Given the description of an element on the screen output the (x, y) to click on. 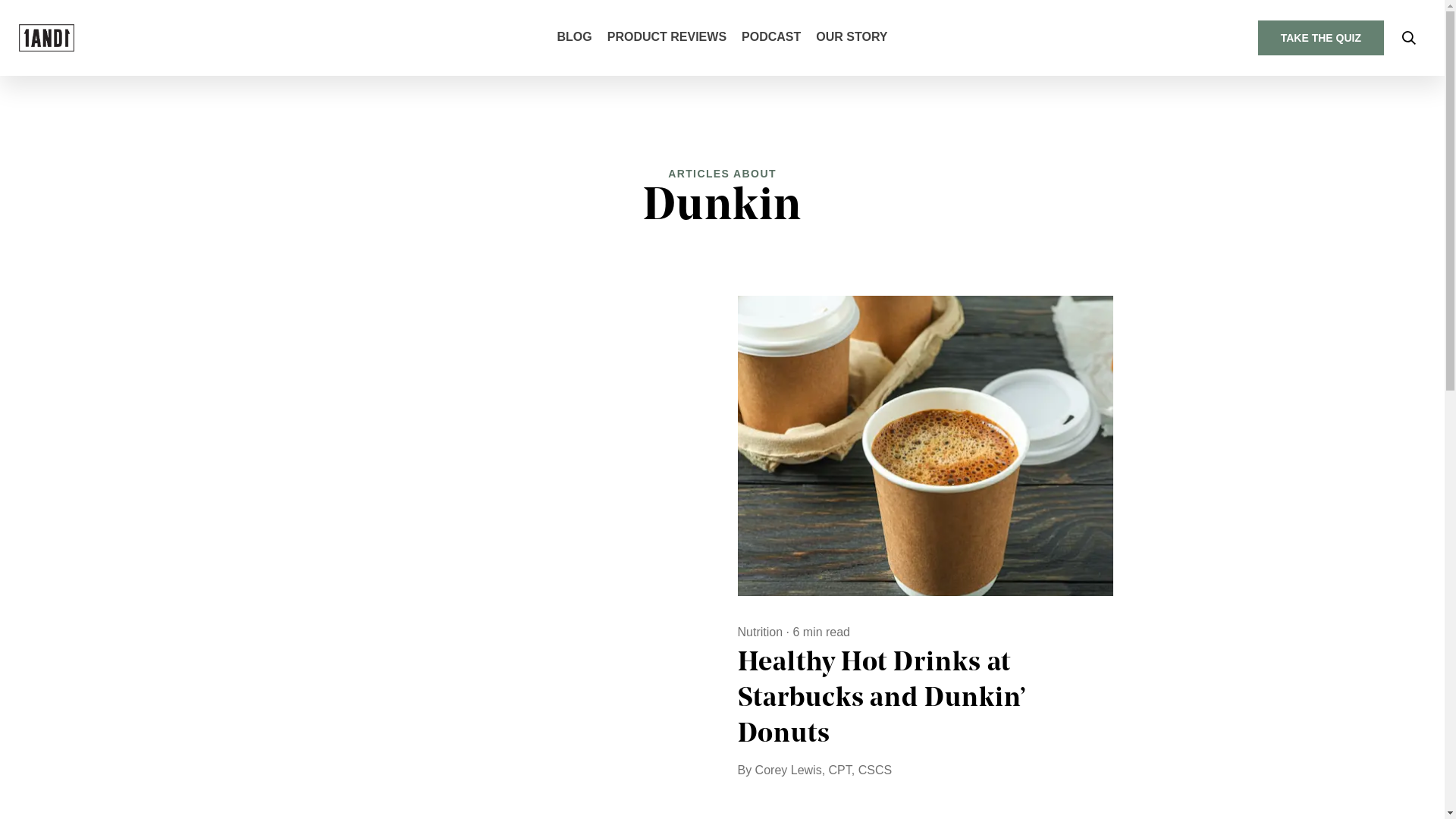
PODCAST Element type: text (770, 37)
PRODUCT REVIEWS Element type: text (666, 37)
OUR STORY Element type: text (851, 37)
TAKE THE QUIZ Element type: text (1320, 37)
BLOG Element type: text (573, 37)
